Given the description of an element on the screen output the (x, y) to click on. 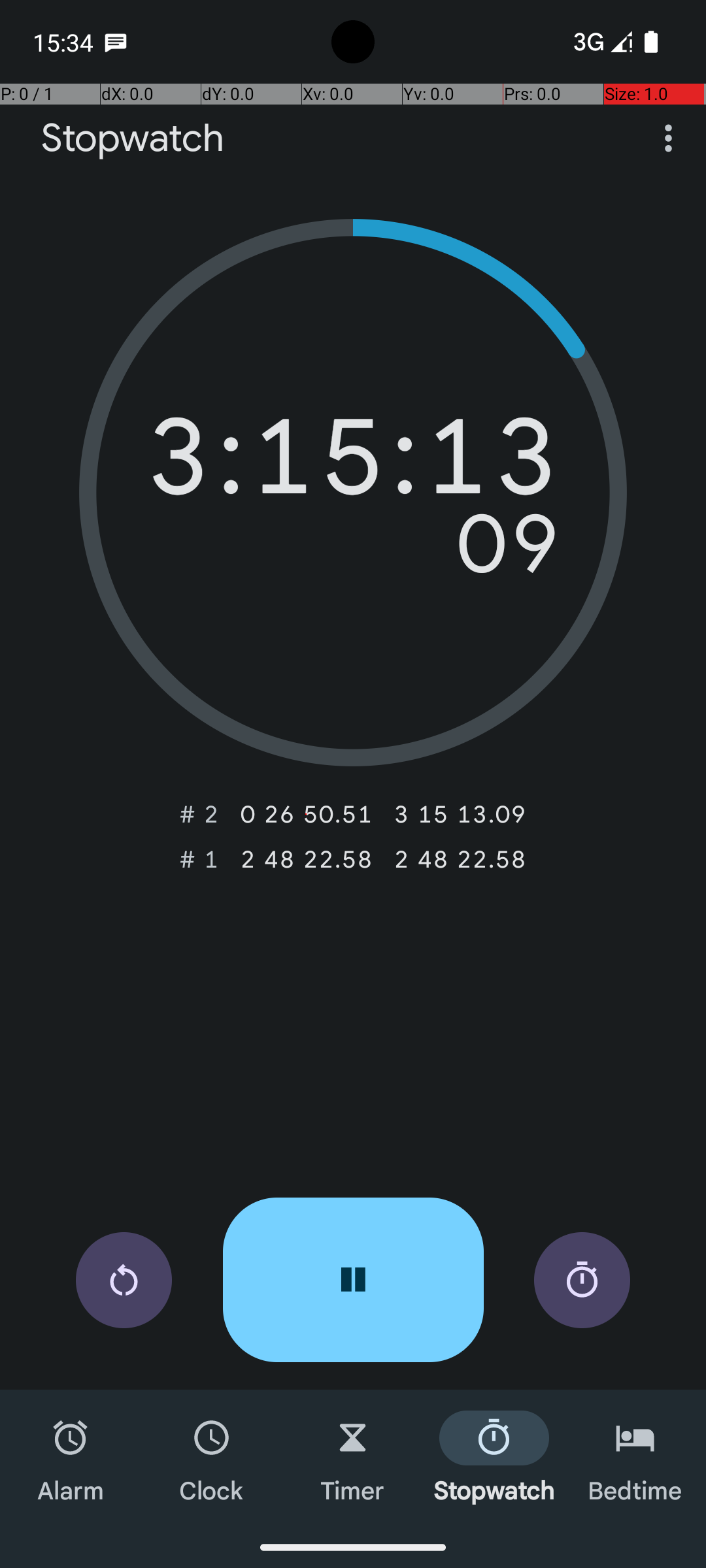
3:15:13 Element type: android.widget.TextView (352, 462)
# 2 Element type: android.widget.TextView (198, 814)
0‎ 26‎ 50.53 Element type: android.widget.TextView (305, 814)
3‎ 15‎ 13.12 Element type: android.widget.TextView (459, 814)
# 1 Element type: android.widget.TextView (198, 859)
2‎ 48‎ 22.58 Element type: android.widget.TextView (305, 859)
